Given the description of an element on the screen output the (x, y) to click on. 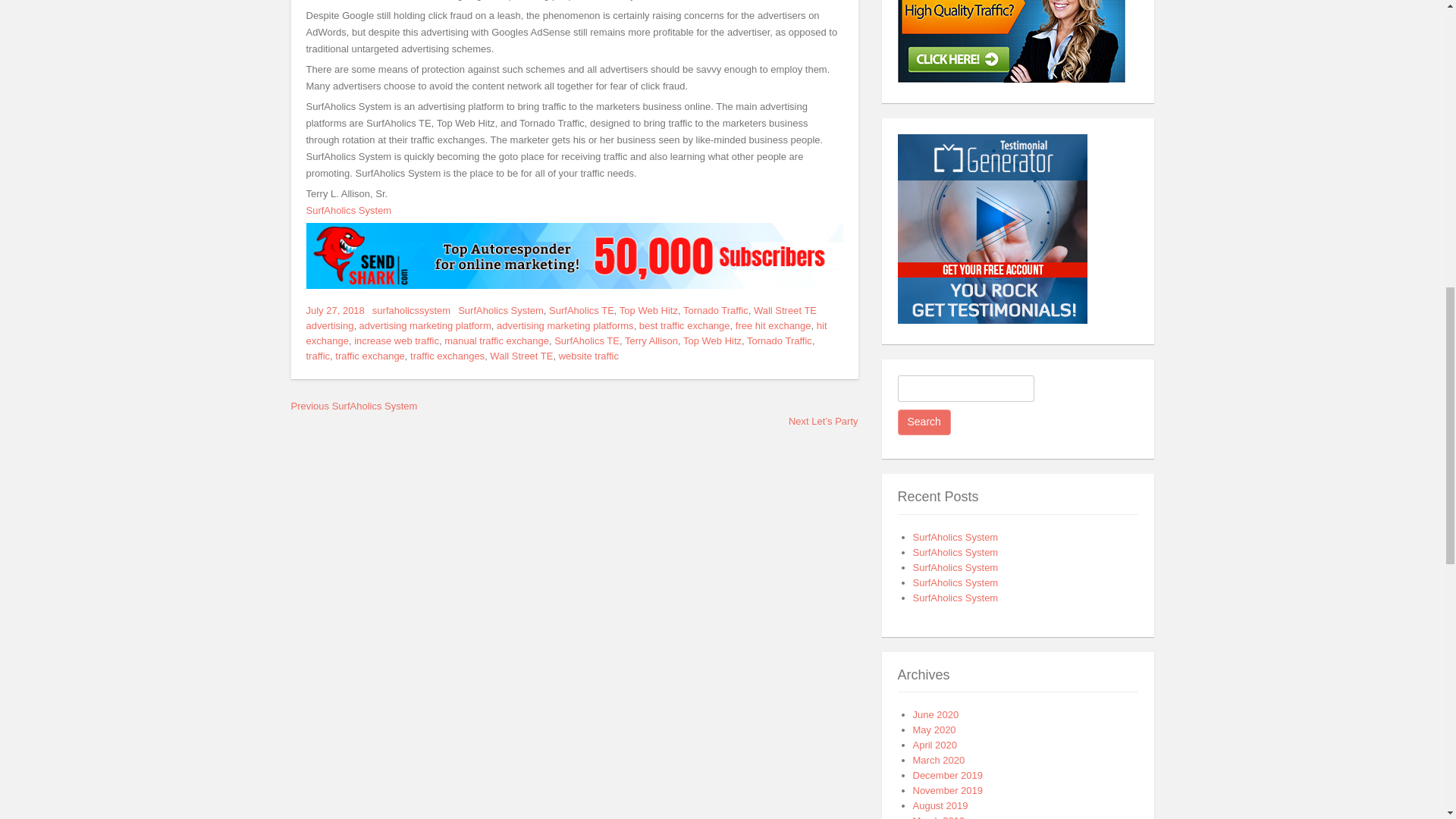
Wall Street TE (785, 310)
increase web traffic (396, 340)
SurfAholics System (955, 536)
July 27, 2018 (335, 310)
manual traffic exchange (496, 340)
SurfAholics TE (587, 340)
best traffic exchange (684, 325)
traffic (317, 355)
Traffic Authority (1011, 79)
Terry Allison (651, 340)
